Given the description of an element on the screen output the (x, y) to click on. 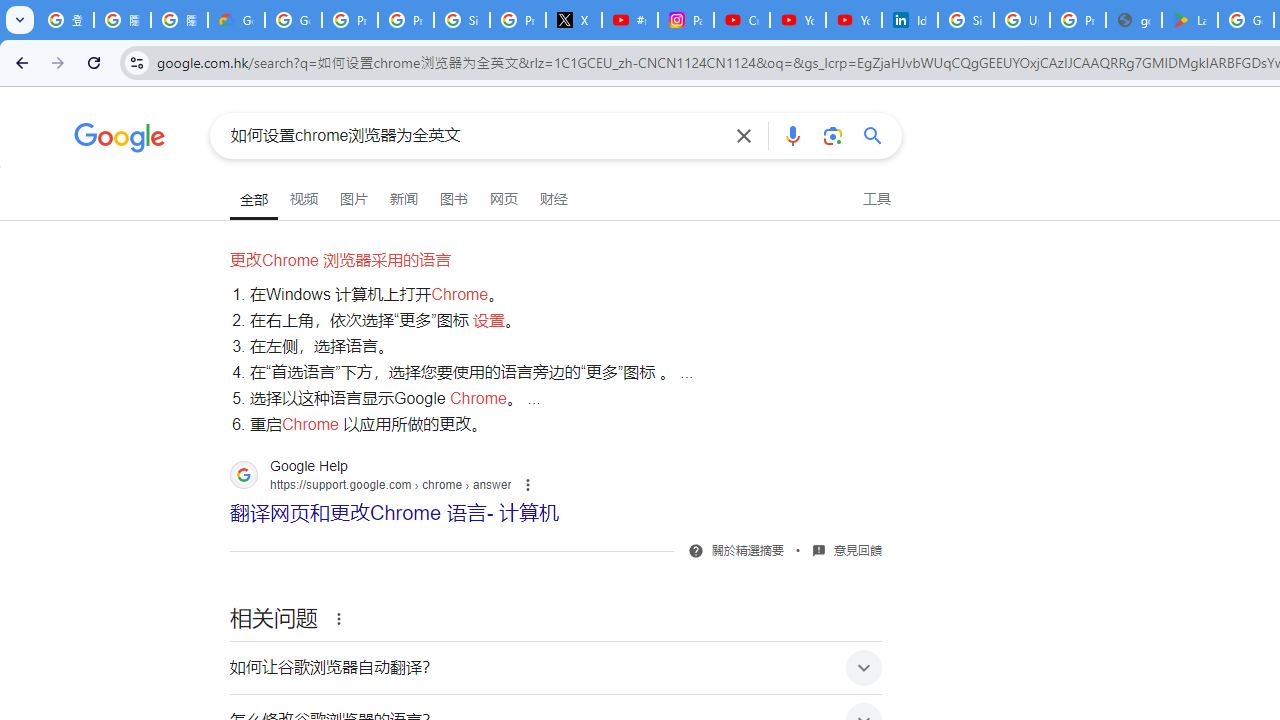
YouTube Culture & Trends - YouTube Top 10, 2021 (853, 20)
